Given the description of an element on the screen output the (x, y) to click on. 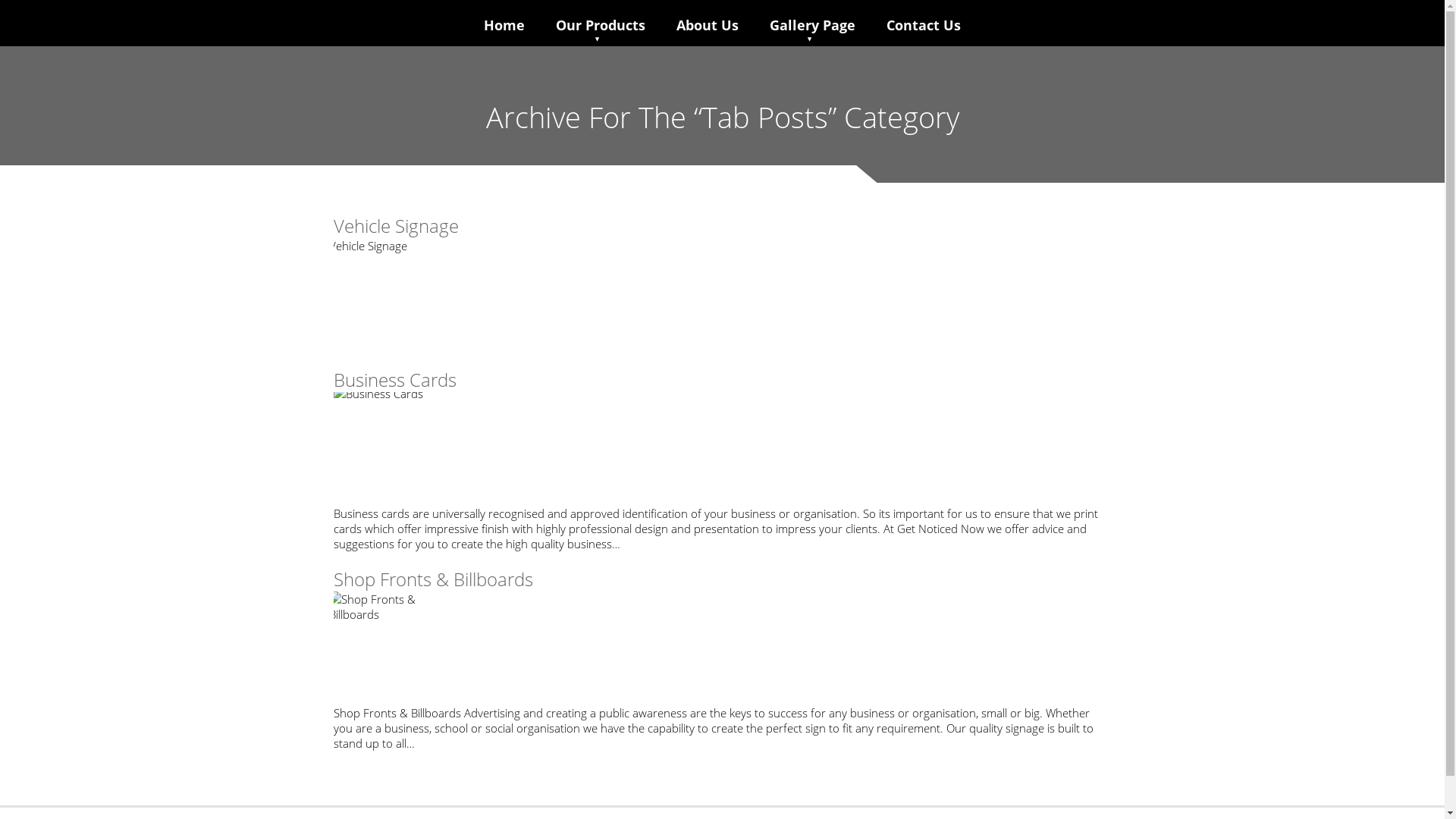
Shop Fronts & Billboards Element type: text (433, 578)
Shop Fronts & Billboards Element type: hover (721, 648)
Contact Us Element type: text (922, 24)
Our Products Element type: text (599, 24)
Home Element type: text (504, 24)
Gallery Page Element type: text (811, 24)
Vehicle Signage Element type: hover (721, 294)
About Us Element type: text (707, 24)
Business Cards Element type: text (394, 379)
Vehicle Signage Element type: text (395, 225)
Business Cards Element type: hover (721, 448)
